Given the description of an element on the screen output the (x, y) to click on. 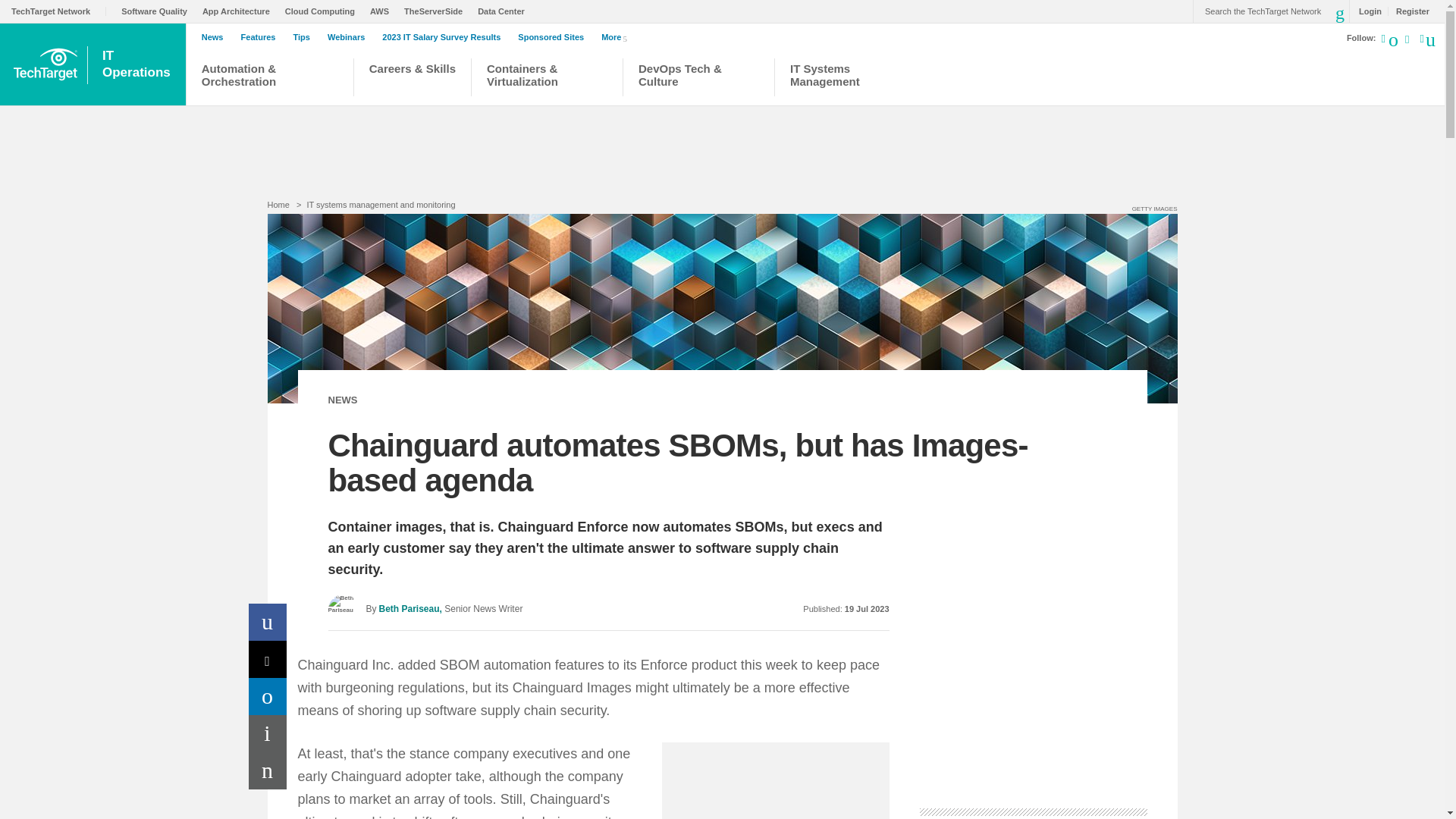
Login (1366, 10)
App Architecture (240, 10)
Register (1408, 10)
News (216, 36)
TheServerSide (437, 10)
TechTarget Network (58, 10)
Tips (304, 36)
Data Center (504, 10)
Cloud Computing (323, 10)
Software Quality (157, 10)
